Given the description of an element on the screen output the (x, y) to click on. 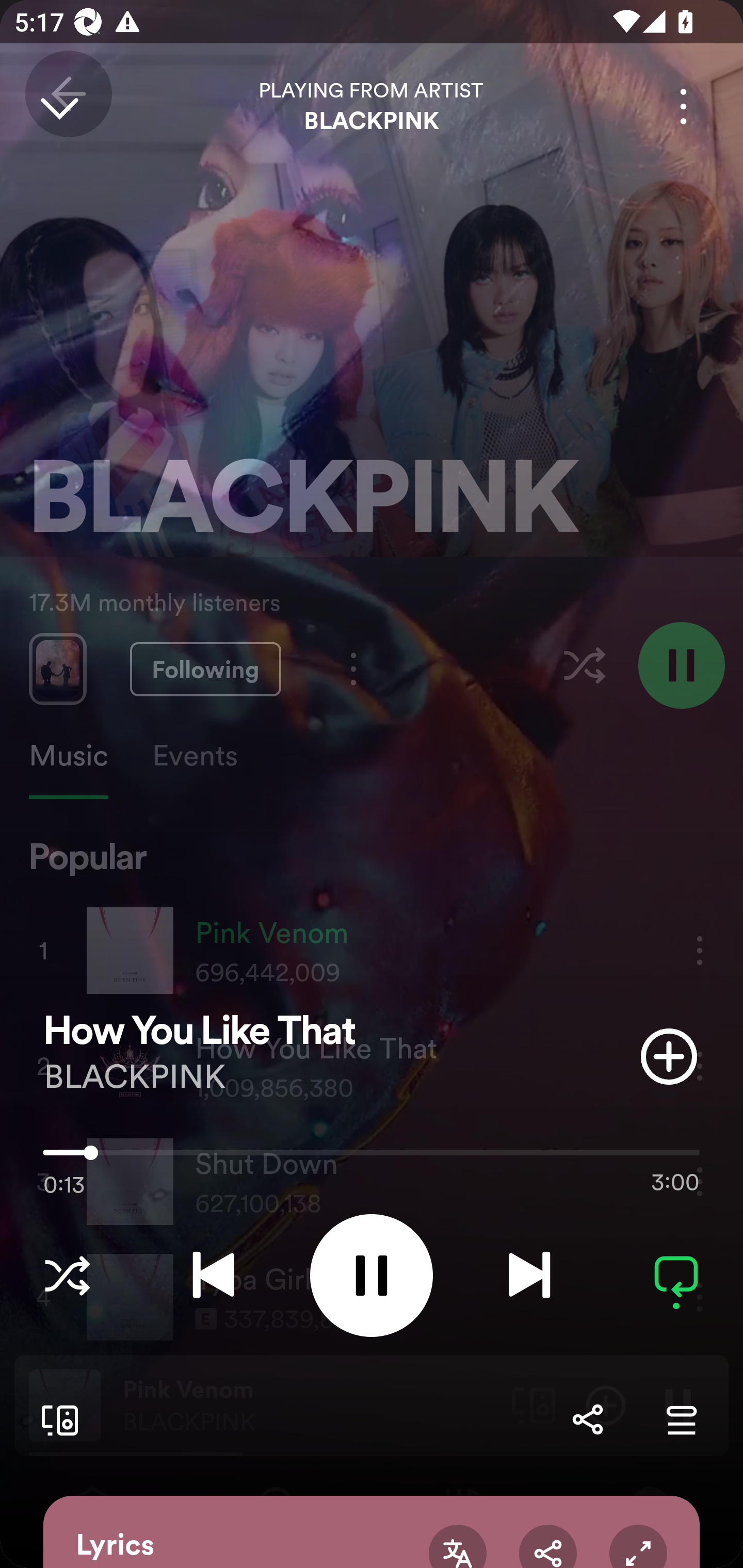
Close (59, 106)
More options for song How You Like That (683, 106)
PLAYING FROM ARTIST BLACKPINK (371, 106)
Add item (669, 1056)
0:12 3:00 12667.0 Use volume keys to adjust (371, 1157)
Pause (371, 1275)
Previous (212, 1275)
Next (529, 1275)
Choose a Listening Mode (66, 1275)
Repeat (676, 1275)
Share (587, 1419)
Go to Queue (681, 1419)
Connect to a device. Opens the devices menu (55, 1419)
Lyrics Translate Share Expand (371, 1531)
Translate (457, 1546)
Share (547, 1546)
Expand (638, 1546)
